Given the description of an element on the screen output the (x, y) to click on. 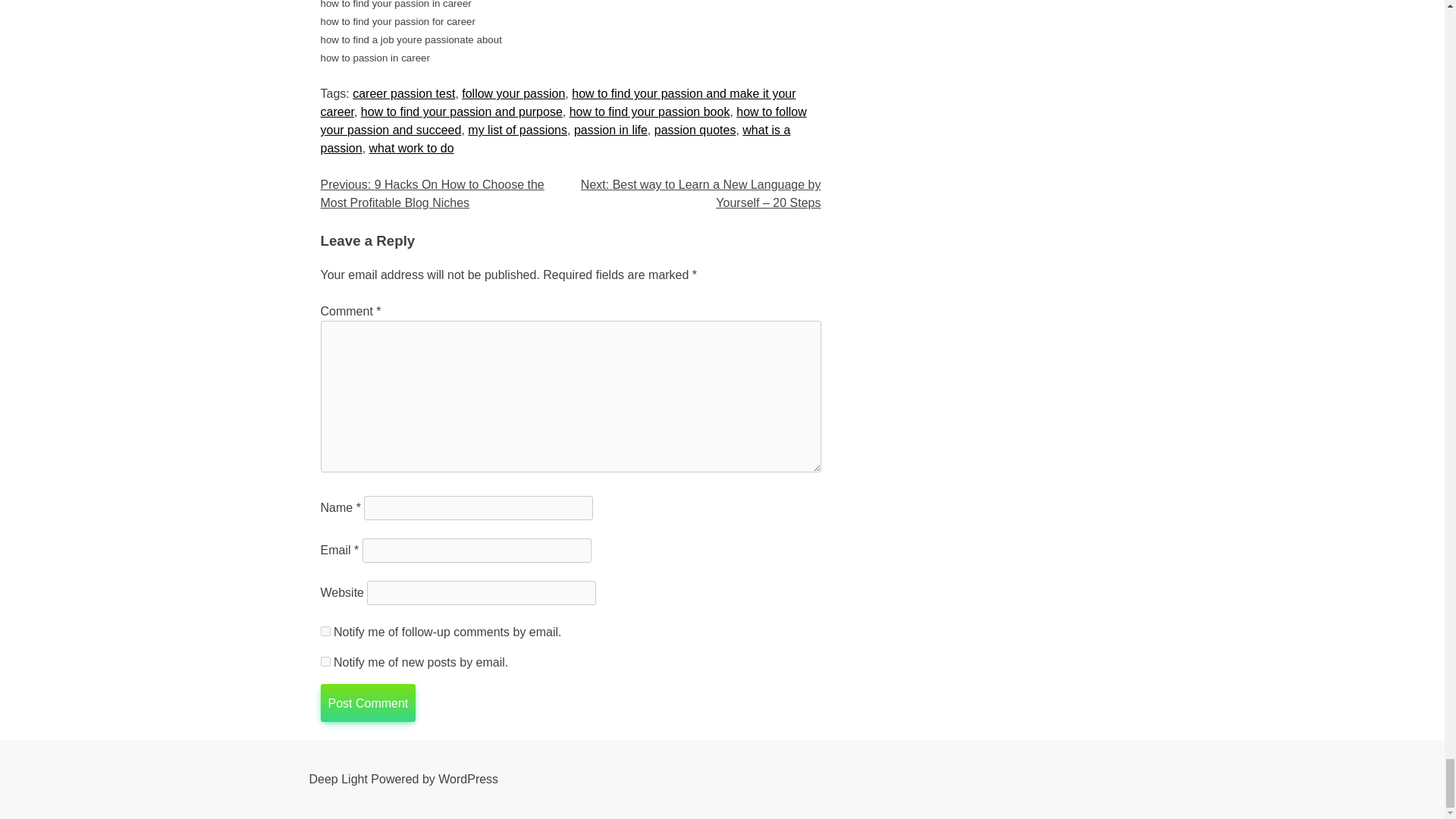
subscribe (325, 631)
subscribe (325, 661)
Post Comment (367, 702)
